Given the description of an element on the screen output the (x, y) to click on. 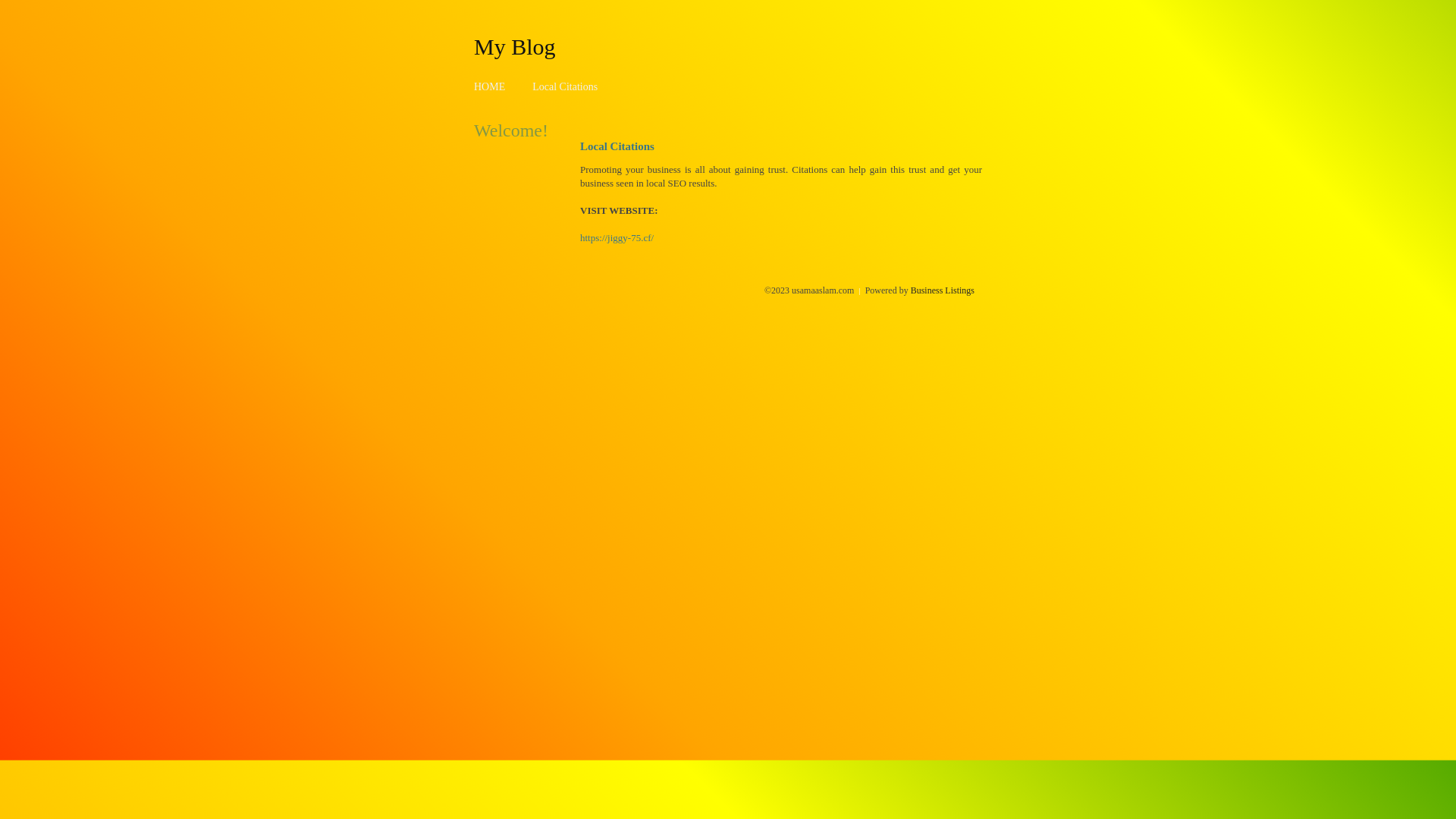
My Blog Element type: text (514, 46)
Local Citations Element type: text (564, 86)
HOME Element type: text (489, 86)
Business Listings Element type: text (942, 290)
https://jiggy-75.cf/ Element type: text (616, 237)
